Given the description of an element on the screen output the (x, y) to click on. 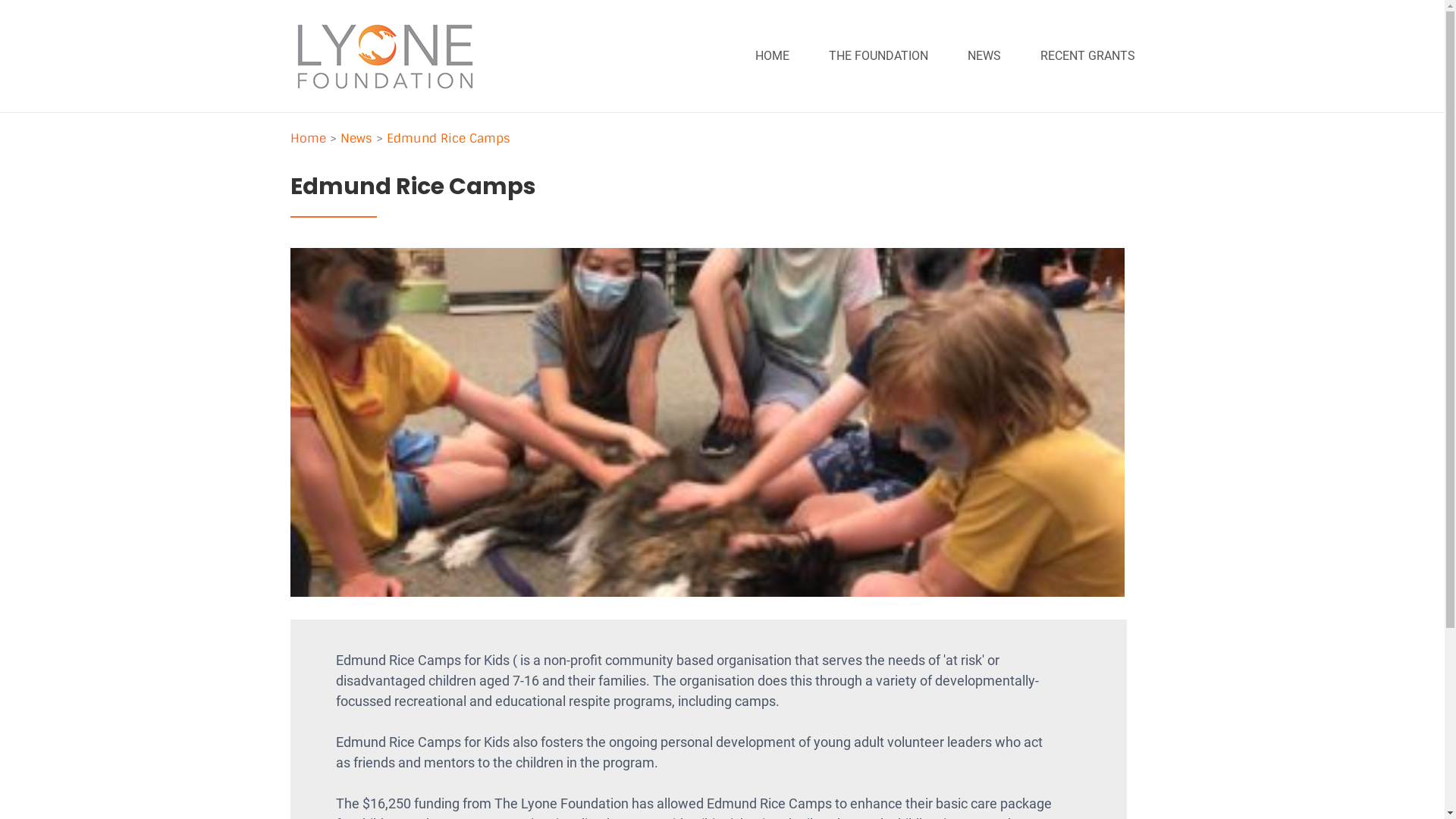
News Element type: text (355, 138)
LyoneFoundation_Logo_RGB-web Element type: hover (384, 55)
Home Element type: text (307, 138)
RECENT GRANTS Element type: text (1087, 55)
THE FOUNDATION Element type: text (877, 55)
thumbnail_image003 Element type: hover (706, 421)
Edmund Rice Camps Element type: text (448, 138)
HOME Element type: text (772, 55)
NEWS Element type: text (983, 55)
